Given the description of an element on the screen output the (x, y) to click on. 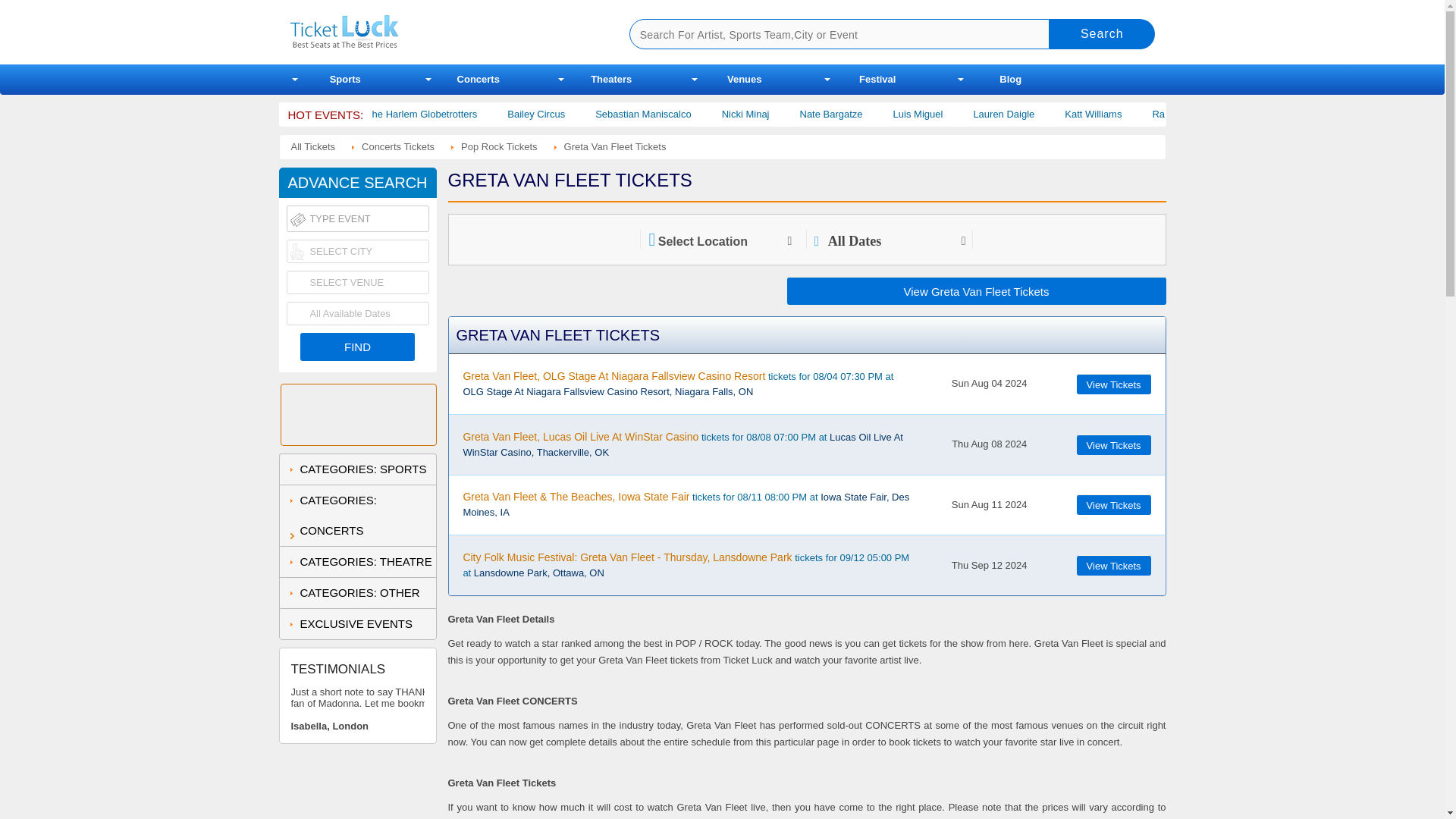
Venues (744, 79)
Theaters (611, 79)
Go! (1101, 33)
Search For Artist, Sports Team,City or Event (838, 33)
Sports (345, 79)
Sports Tickets (345, 79)
Concert Tickets (478, 79)
Venues (744, 79)
TYPE EVENT (357, 218)
Ticketluck (440, 32)
FIND (356, 346)
Blog (1010, 79)
Concerts (478, 79)
Festival (877, 79)
Theater Tickets (611, 79)
